Given the description of an element on the screen output the (x, y) to click on. 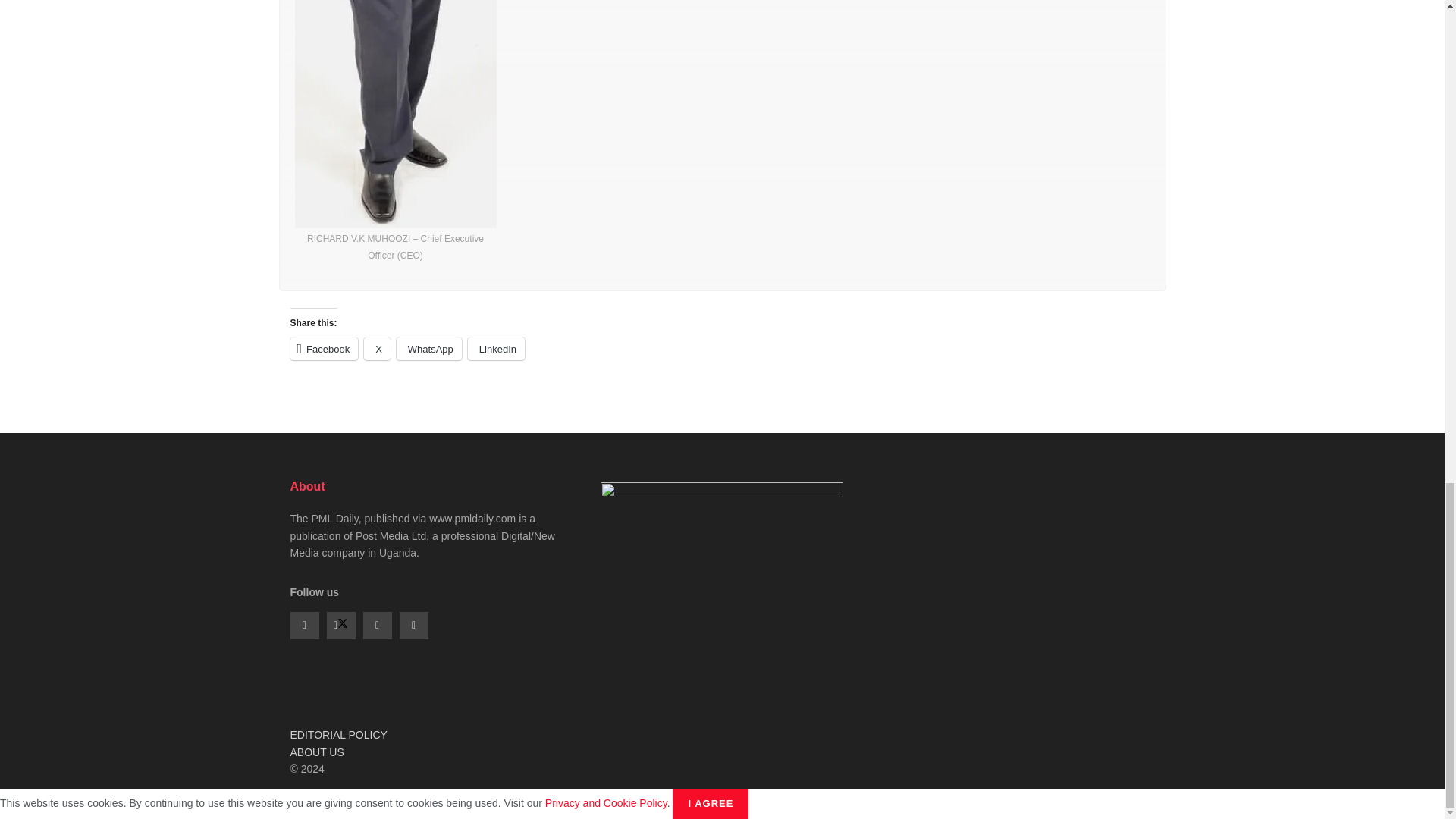
Click to share on LinkedIn (495, 348)
Click to share on Facebook (323, 348)
Click to share on WhatsApp (428, 348)
Click to share on X (377, 348)
